Given the description of an element on the screen output the (x, y) to click on. 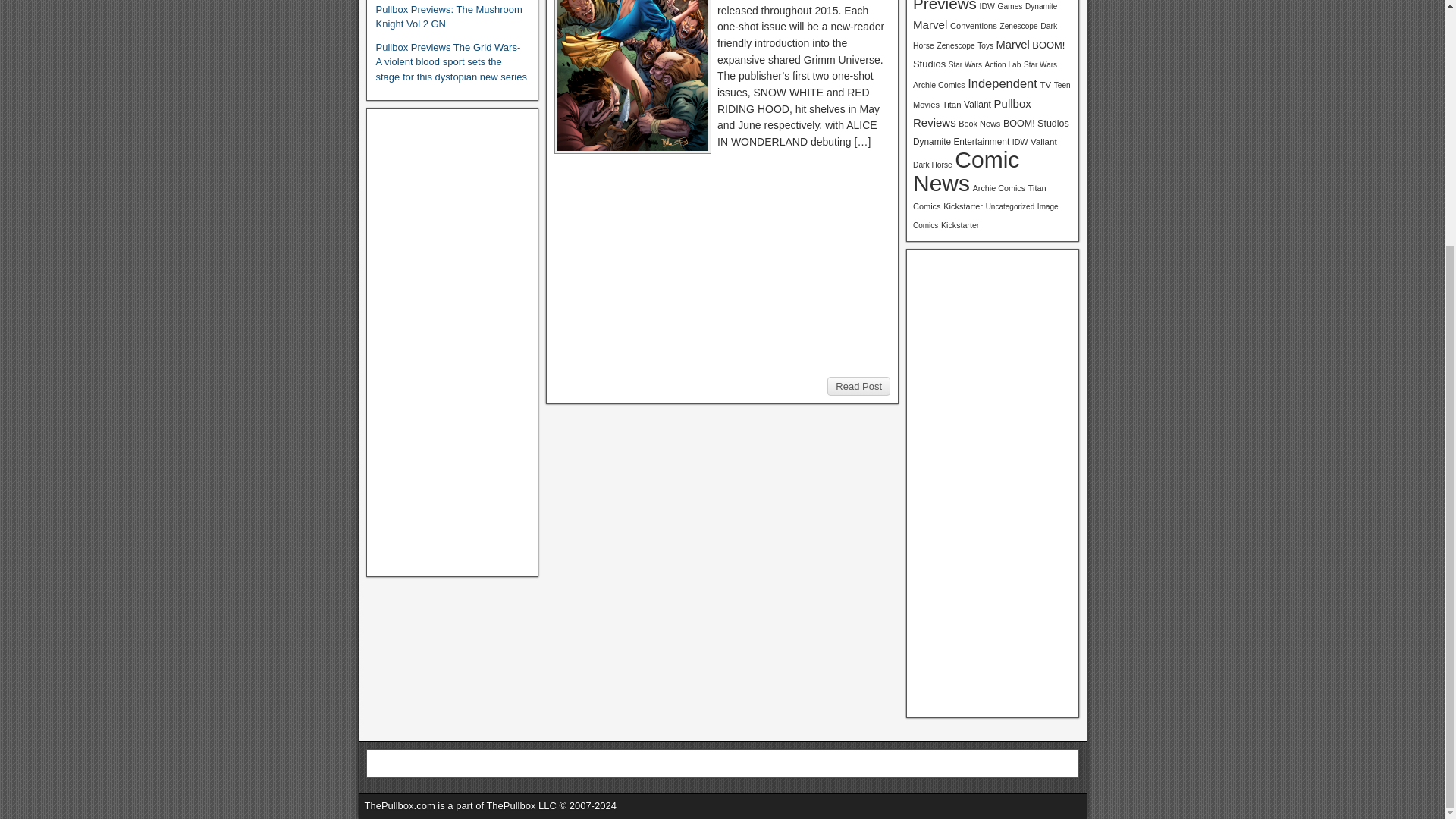
Advertisement (721, 264)
Read Post (858, 386)
Pullbox Previews: The Mushroom Knight Vol 2 GN (448, 17)
